Given the description of an element on the screen output the (x, y) to click on. 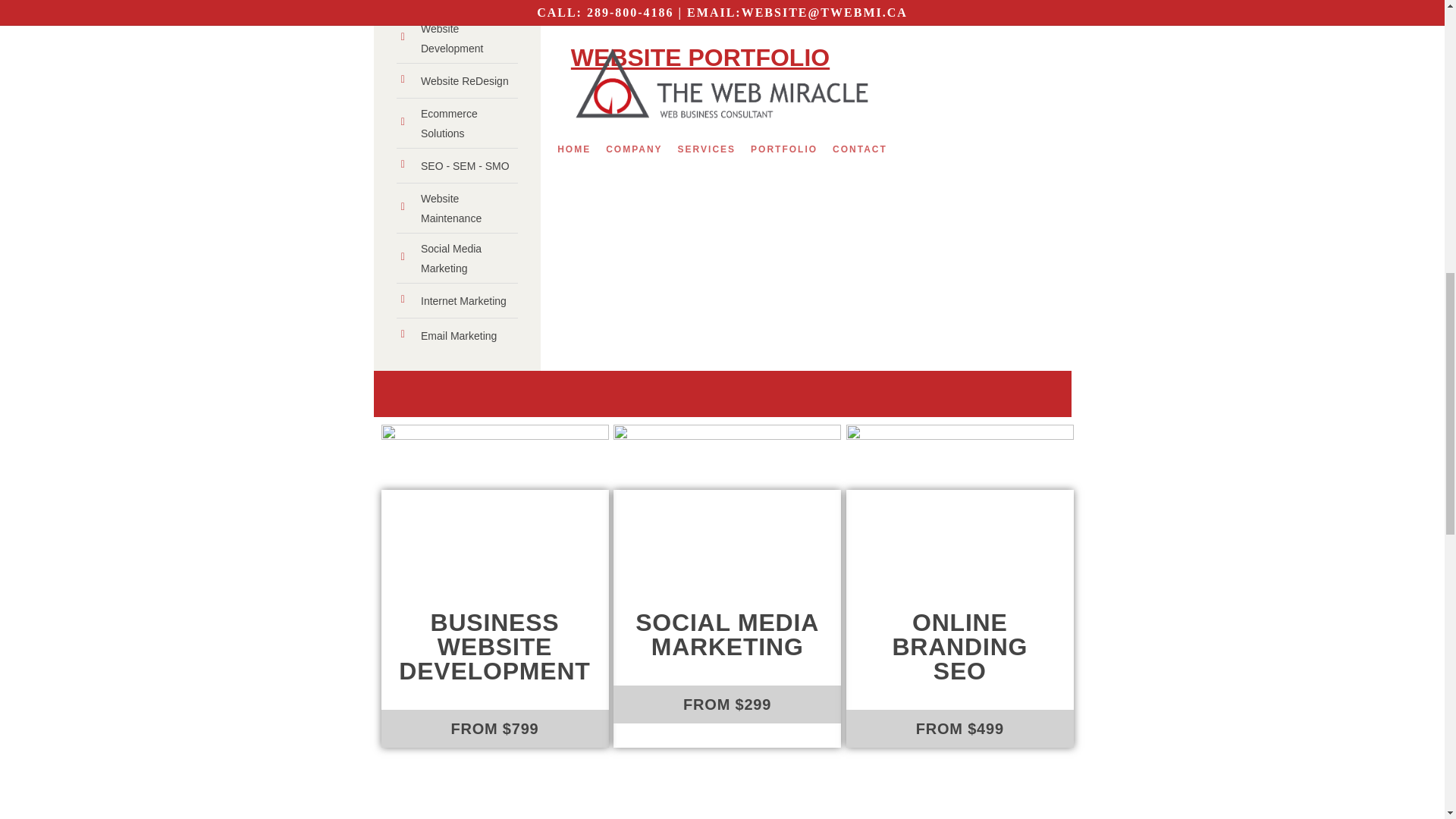
Brochure Design (456, 4)
Website Maintenance (456, 208)
Social Media Marketing (456, 258)
Ecommerce Solutions (456, 123)
SEO - SEM - SMO (456, 165)
Website Development (456, 38)
Website ReDesign (456, 80)
Internet Marketing (456, 300)
